Given the description of an element on the screen output the (x, y) to click on. 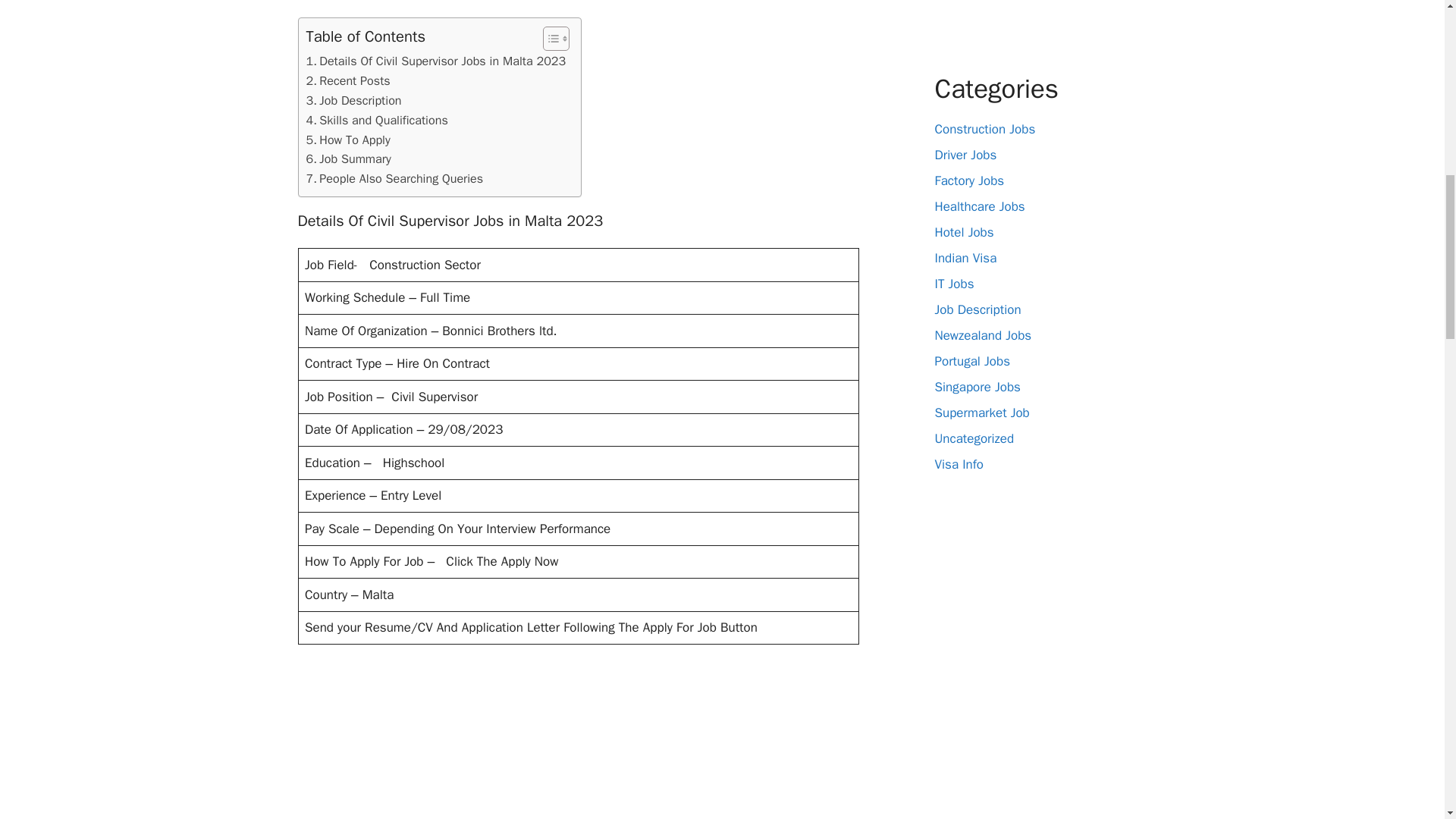
How To Apply (347, 139)
Skills and Qualifications (376, 120)
Job Summary (348, 158)
People Also Searching Queries (394, 178)
Job Description (353, 100)
Job Description (353, 100)
How To Apply (347, 139)
People Also Searching Queries (394, 178)
Recent Posts (347, 80)
Skills and Qualifications (376, 120)
Recent Posts (347, 80)
Details Of Civil Supervisor Jobs in Malta 2023 (435, 61)
Details Of Civil Supervisor Jobs in Malta 2023 (435, 61)
Job Summary (348, 158)
